Given the description of an element on the screen output the (x, y) to click on. 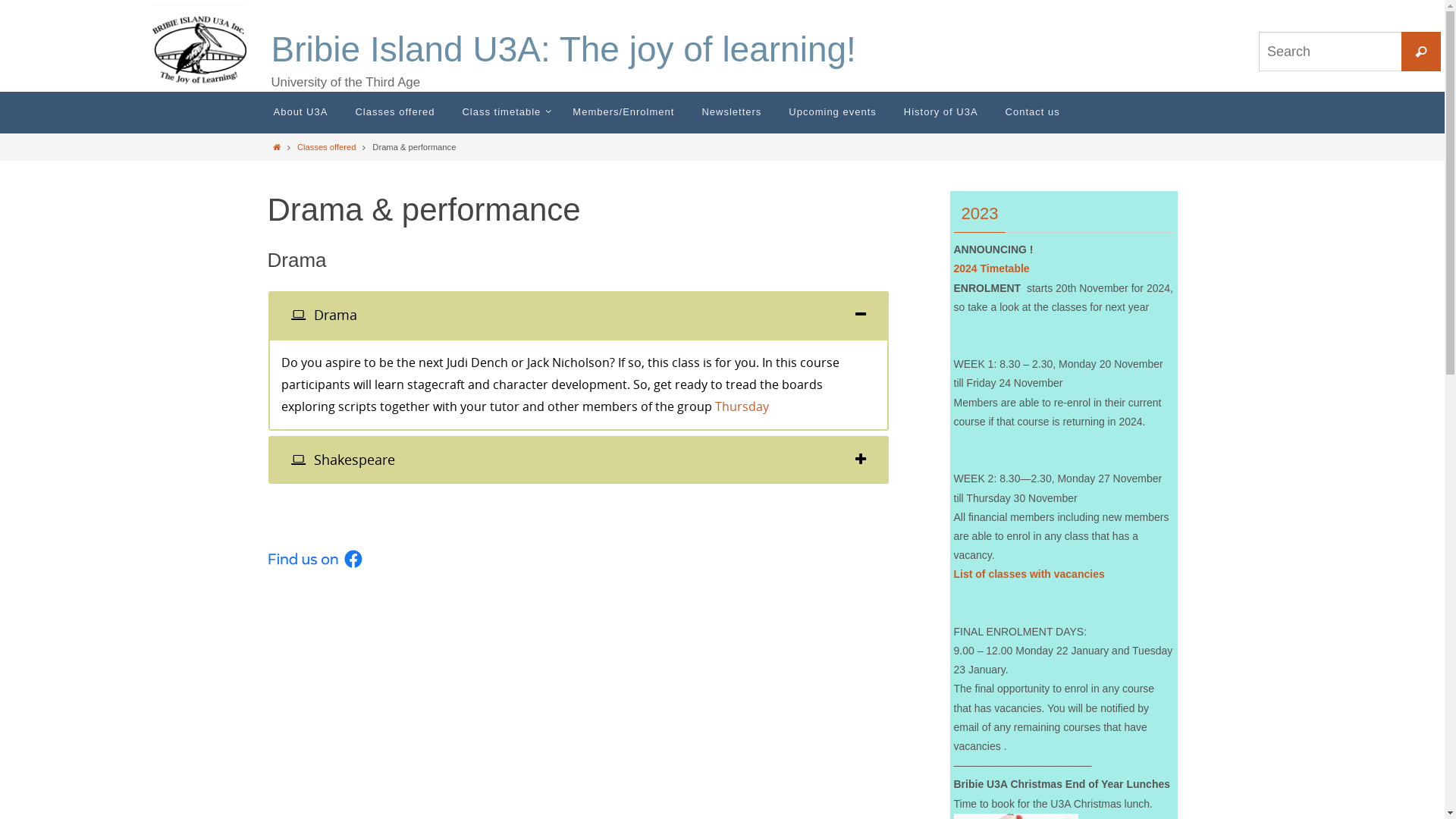
History of U3A Element type: text (940, 112)
List of classes with vacancies Element type: text (1028, 573)
Class timetable Element type: text (503, 112)
Members/Enrolment Element type: text (622, 112)
Shakespeare Element type: text (577, 459)
Classes offered Element type: text (326, 146)
Contact us Element type: text (1032, 112)
Thursday Element type: text (741, 406)
Upcoming events Element type: text (832, 112)
Newsletters Element type: text (731, 112)
Drama Element type: text (577, 314)
Bribie Island U3A: The joy of learning! Element type: text (563, 49)
2024 Timetable Element type: text (991, 268)
About U3A Element type: text (300, 112)
Classes offered Element type: text (394, 112)
